Given the description of an element on the screen output the (x, y) to click on. 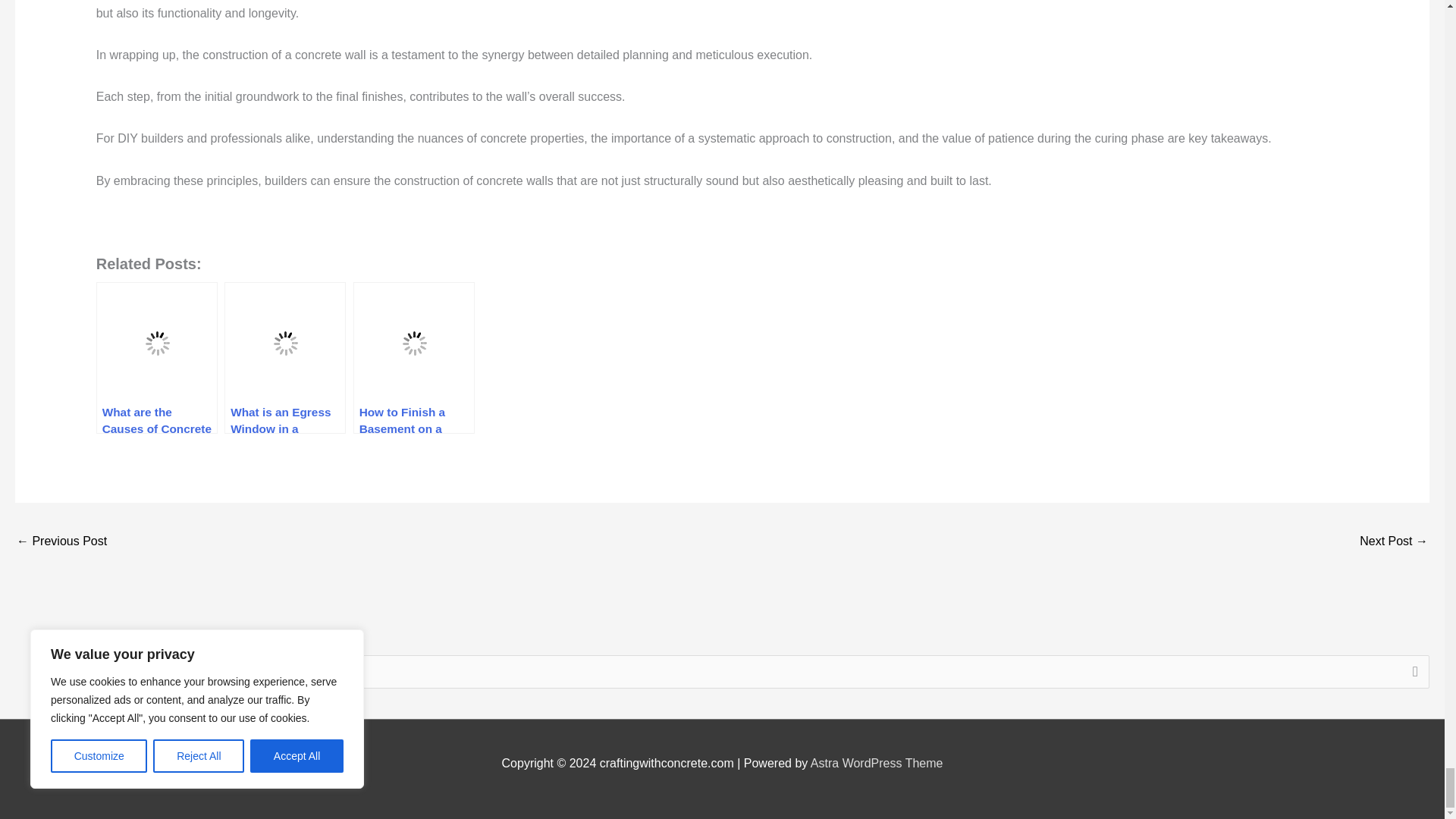
Working with Plaster and Stucco: A Guide for Home Crafters (61, 542)
Astra WordPress Theme (876, 762)
